Given the description of an element on the screen output the (x, y) to click on. 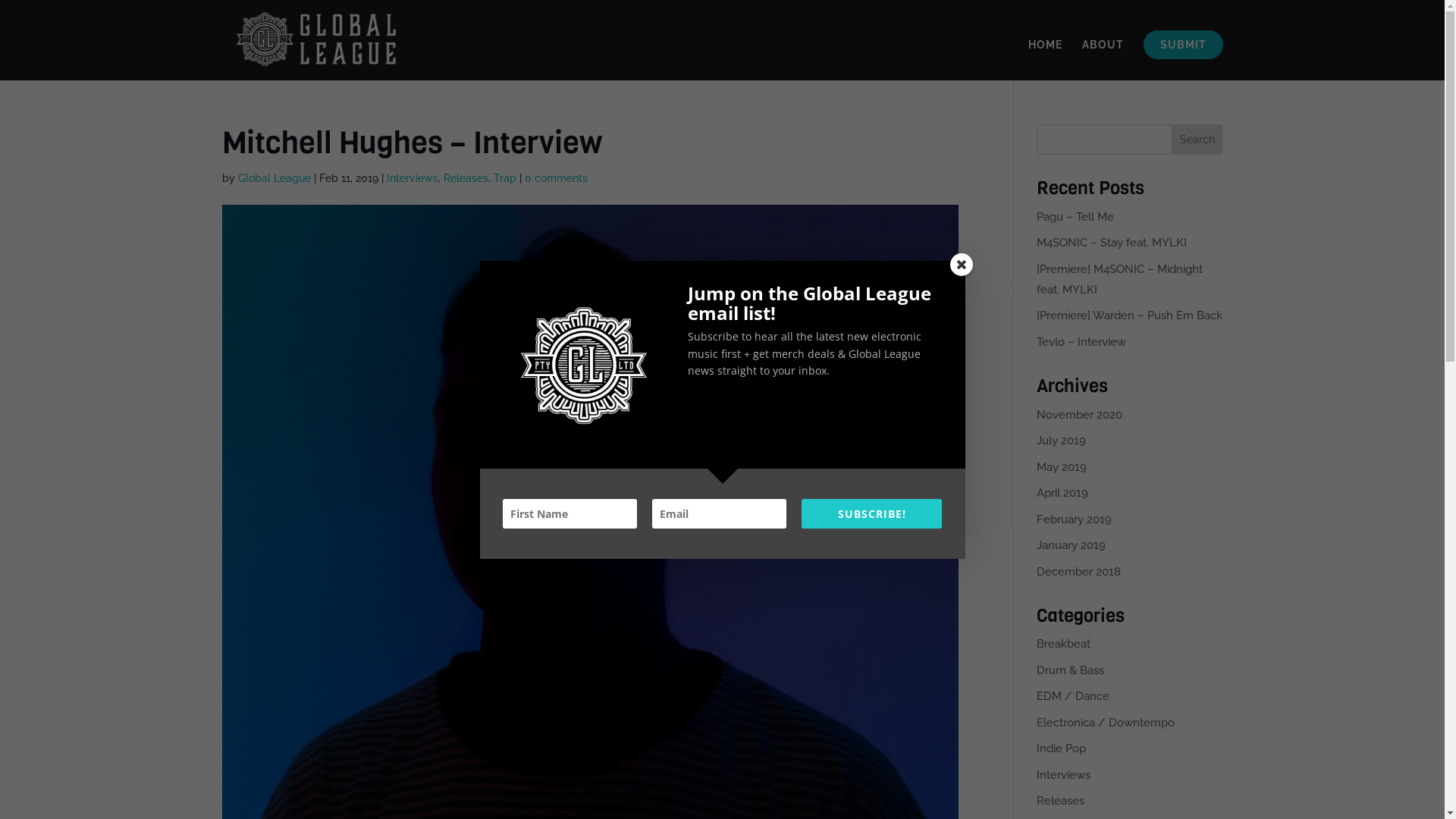
Releases Element type: text (1060, 800)
Releases Element type: text (464, 178)
Trap Element type: text (503, 178)
Electronica / Downtempo Element type: text (1105, 722)
HOME Element type: text (1045, 59)
November 2020 Element type: text (1079, 414)
SUBMIT Element type: text (1183, 44)
Indie Pop Element type: text (1060, 748)
ABOUT Element type: text (1102, 59)
May 2019 Element type: text (1061, 466)
January 2019 Element type: text (1070, 545)
Interviews Element type: text (1063, 774)
February 2019 Element type: text (1073, 519)
Global League Element type: text (274, 178)
Breakbeat Element type: text (1063, 643)
0 comments Element type: text (555, 178)
December 2018 Element type: text (1078, 571)
July 2019 Element type: text (1060, 440)
SUBSCRIBE! Element type: text (871, 513)
EDM / Dance Element type: text (1072, 695)
Search Element type: text (1197, 139)
Drum & Bass Element type: text (1070, 670)
Interviews Element type: text (412, 178)
April 2019 Element type: text (1062, 492)
